Given the description of an element on the screen output the (x, y) to click on. 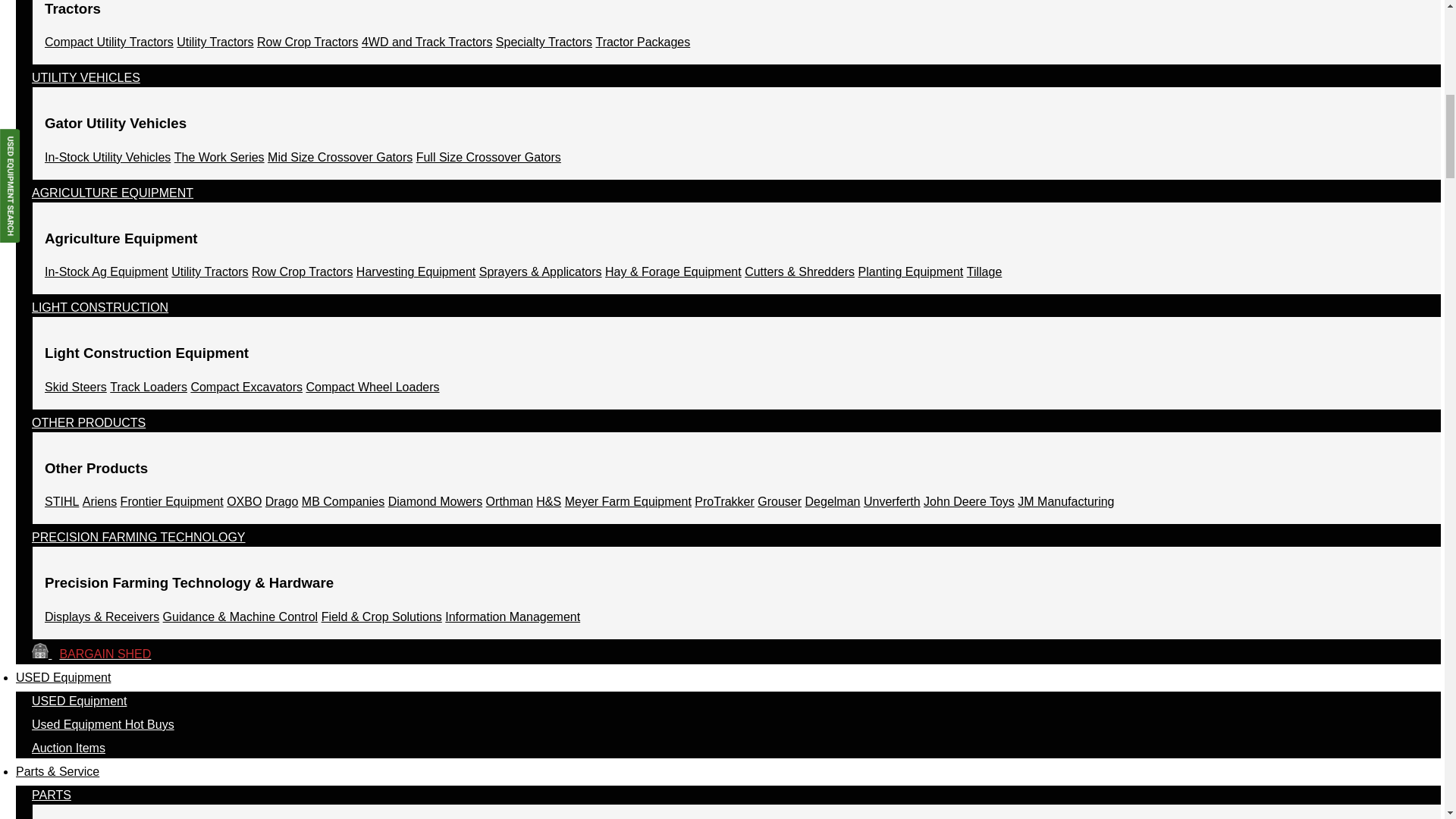
Tractor Packages (642, 42)
AGRICULTURE EQUIPMENT (112, 196)
4WD and Track Tractors (427, 42)
Utility Tractors (209, 271)
Row Crop Tractors (307, 42)
Compact Utility Tractors (109, 42)
UTILITY VEHICLES (85, 81)
Specialty Tractors (544, 42)
In-Stock Ag Equipment (106, 271)
In-Stock Utility Vehicles (107, 156)
